Given the description of an element on the screen output the (x, y) to click on. 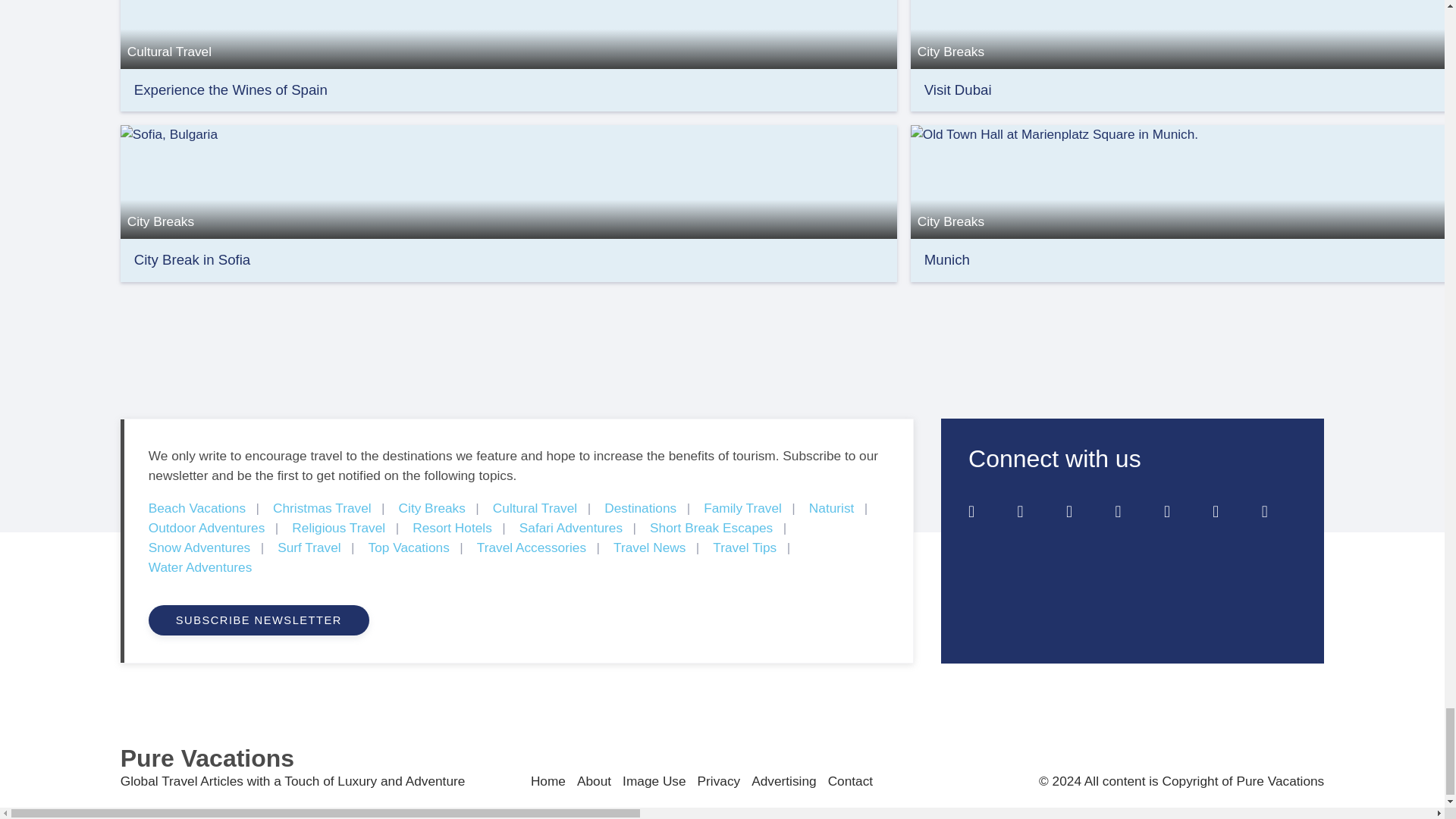
City Break in Sofia (191, 259)
Visit Dubai (957, 89)
Munich (1183, 181)
City Break in Sofia (508, 181)
Experience the Wines of Spain (230, 89)
Munich (946, 259)
Experience the Wines of Spain (508, 10)
Munich (946, 259)
Visit Dubai (957, 89)
Visit Dubai (1183, 10)
Experience the Wines of Spain (230, 89)
City Break in Sofia (191, 259)
